Given the description of an element on the screen output the (x, y) to click on. 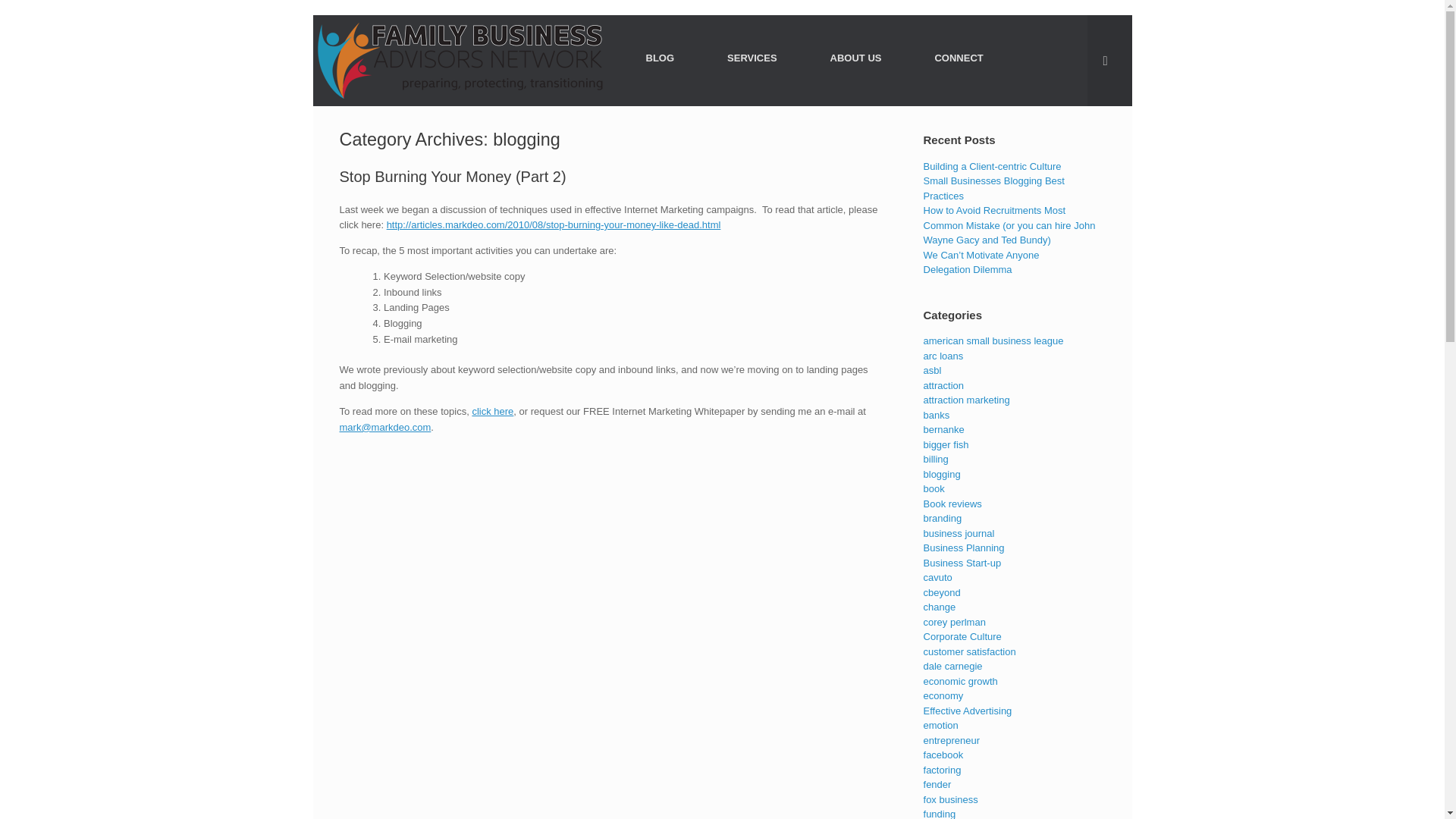
Book reviews (952, 502)
banks (936, 414)
Building a Client-centric Culture (992, 165)
Delegation Dilemma (967, 269)
bigger fish (946, 443)
Small Businesses Blogging Best Practices (993, 188)
ABOUT US (855, 57)
arc loans (943, 355)
blogging (941, 473)
BLOG (659, 57)
